Given the description of an element on the screen output the (x, y) to click on. 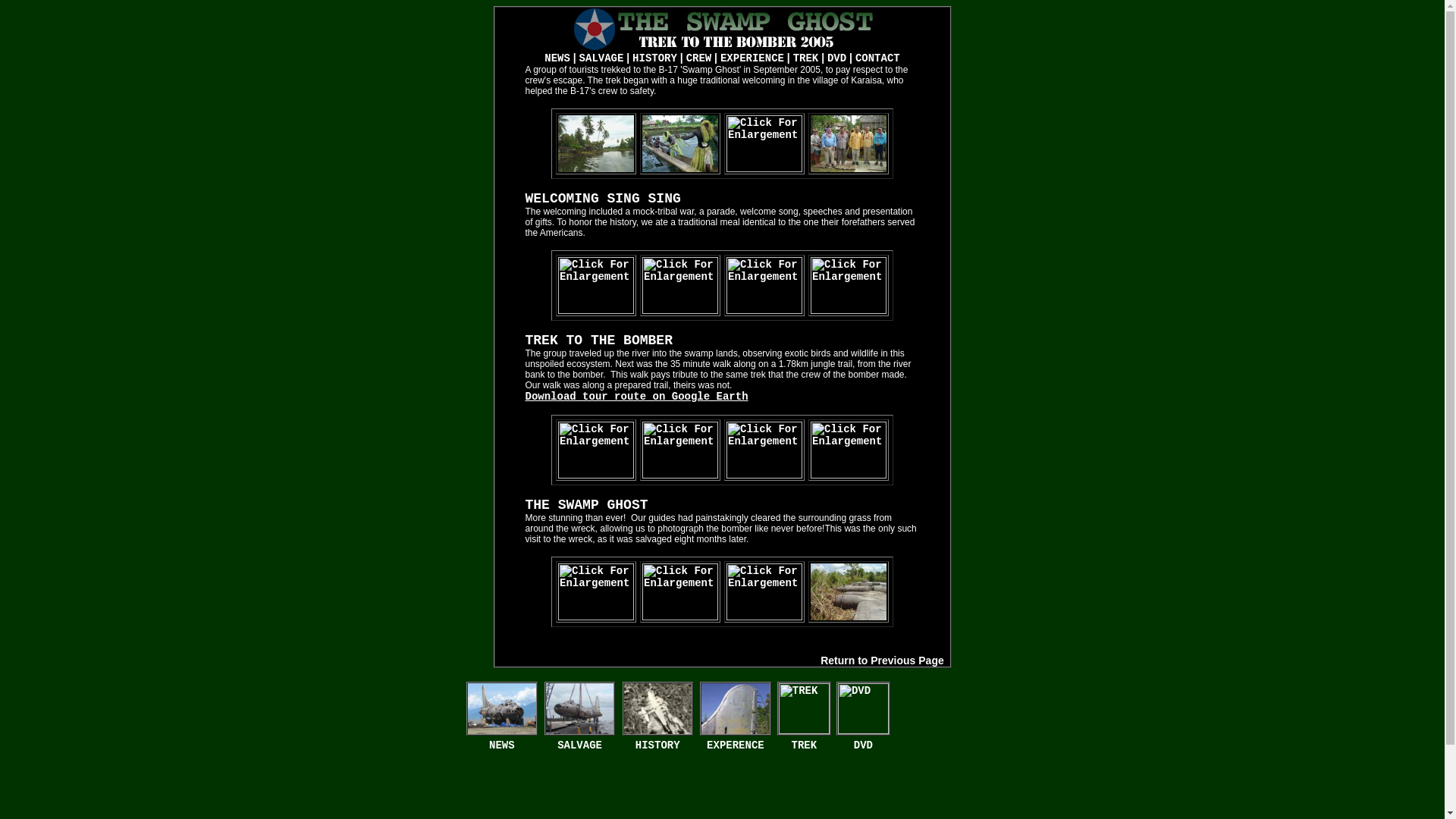
TREK (805, 58)
SALVAGE (601, 58)
Return to Previous Page (882, 660)
DVD (862, 745)
CREW (698, 58)
NEWS (502, 745)
NEWS (557, 58)
TREK (804, 745)
DVD (836, 58)
CONTACT (877, 58)
